Given the description of an element on the screen output the (x, y) to click on. 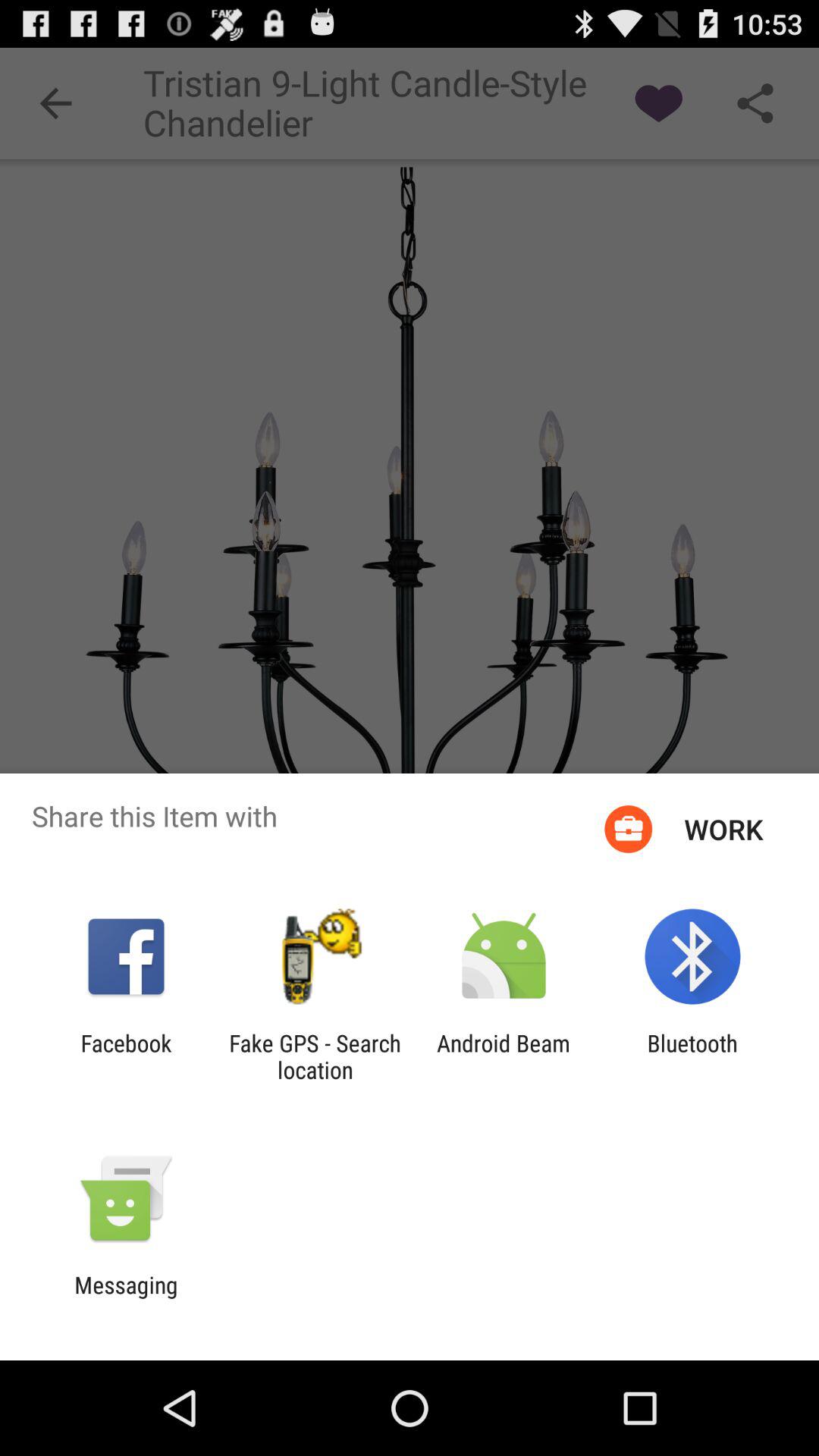
turn on app next to the android beam (314, 1056)
